Given the description of an element on the screen output the (x, y) to click on. 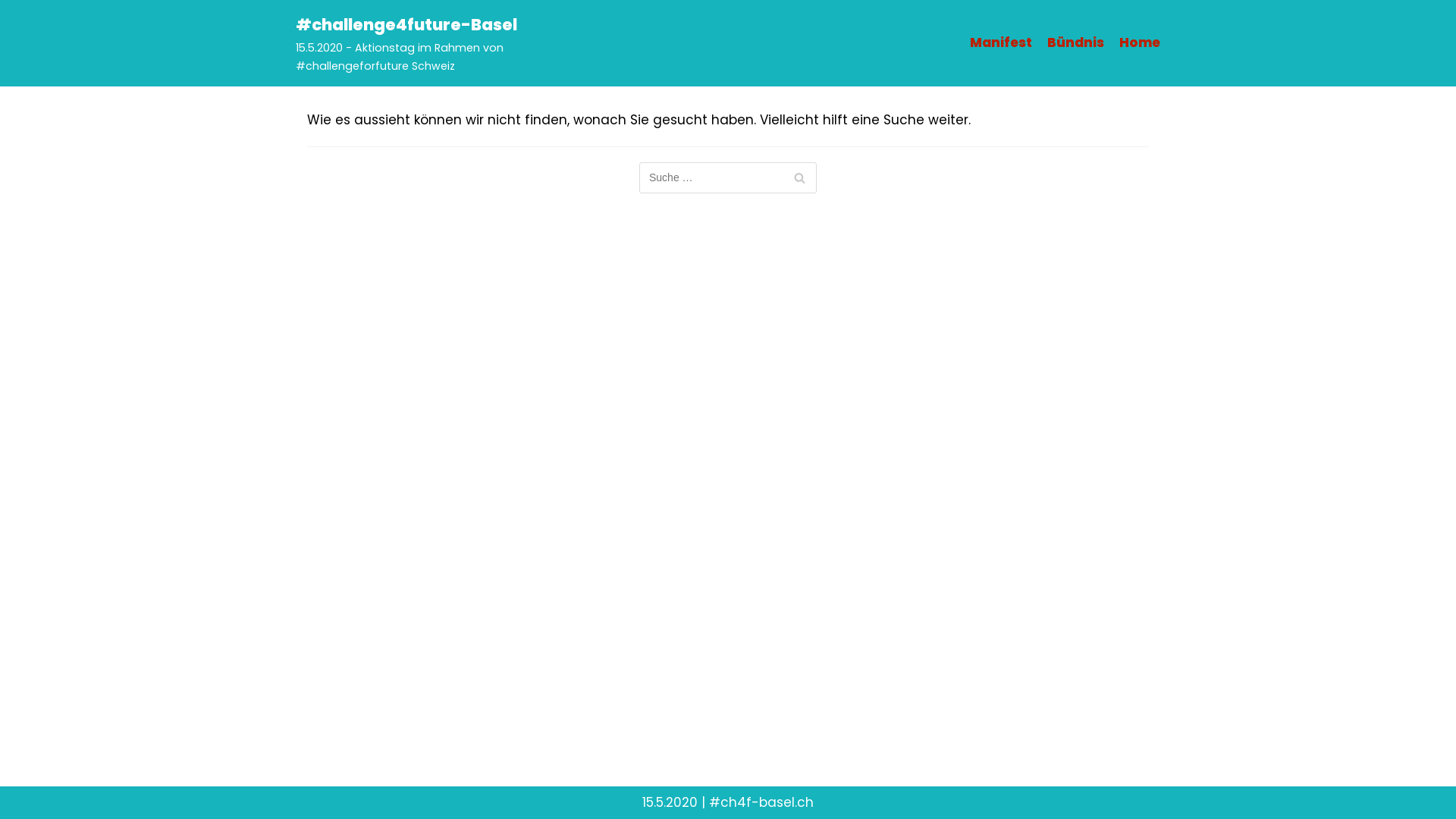
Zum Inhalt Element type: text (15, 7)
Suche Element type: text (799, 177)
Home Element type: text (1139, 42)
Manifest Element type: text (1000, 42)
